Given the description of an element on the screen output the (x, y) to click on. 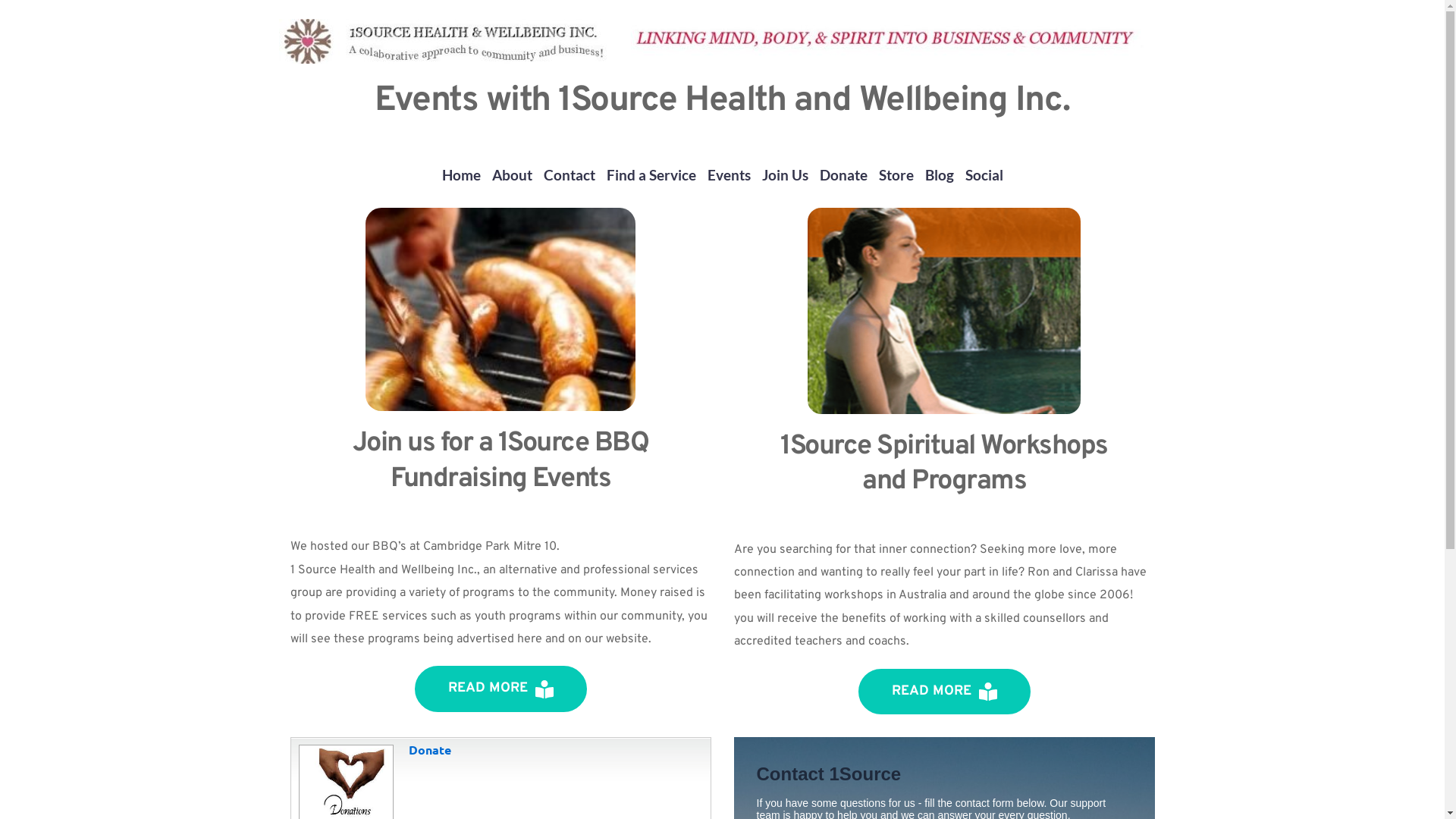
About Element type: text (511, 174)
Events Element type: text (727, 174)
Find a Service Element type: text (651, 174)
Join Us Element type: text (784, 174)
Home Element type: text (460, 174)
Donate Element type: hover (343, 789)
Donate Element type: text (428, 749)
Social Element type: text (983, 174)
Contact Element type: text (568, 174)
READ MORE Element type: text (500, 688)
READ MORE Element type: text (944, 691)
Store Element type: text (895, 174)
Donate Element type: text (842, 174)
Blog Element type: text (939, 174)
